Given the description of an element on the screen output the (x, y) to click on. 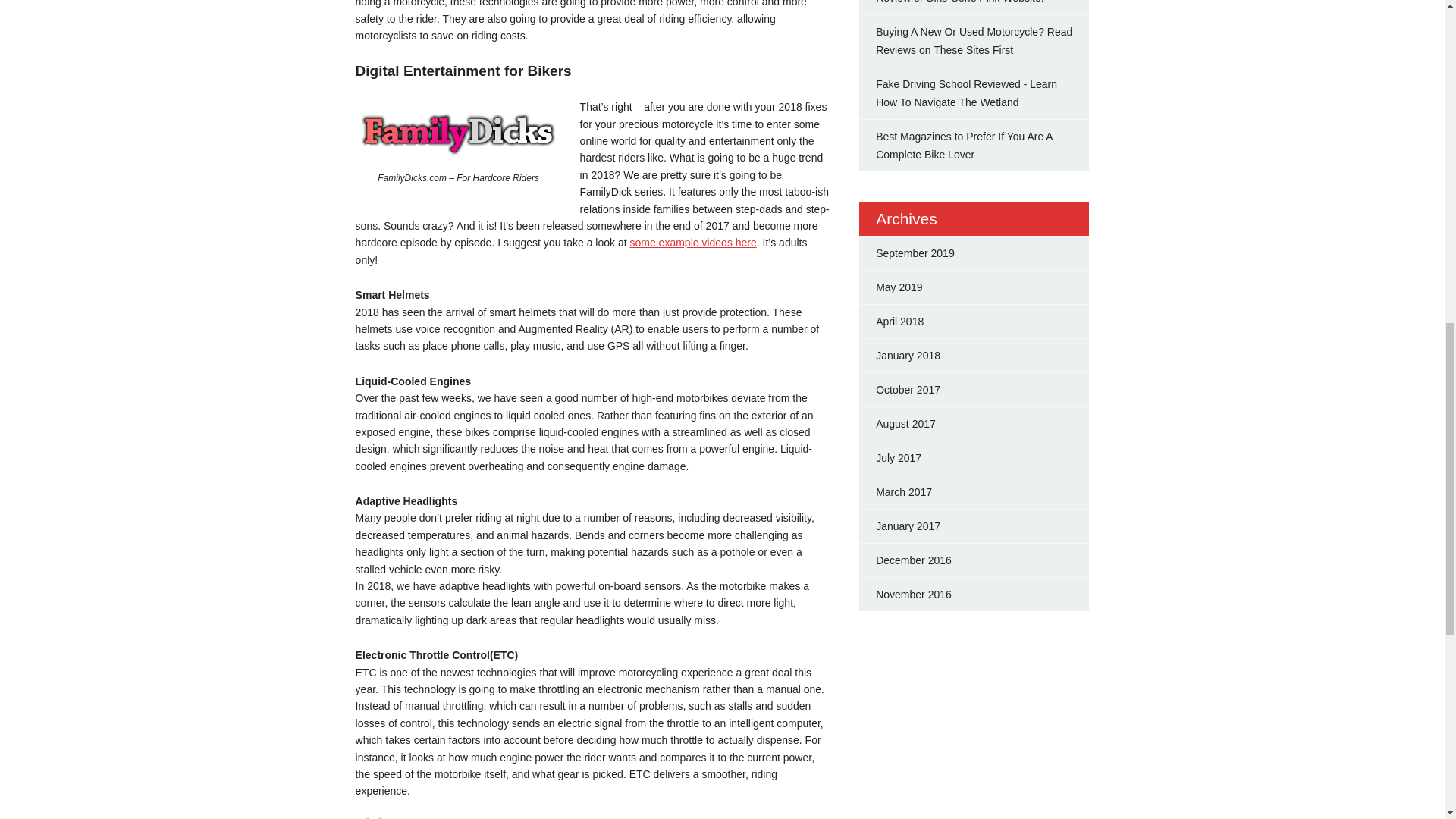
September 2019 (915, 253)
some example videos here (691, 242)
January 2018 (908, 355)
May 2019 (898, 287)
December 2016 (914, 560)
August 2017 (906, 423)
